Given the description of an element on the screen output the (x, y) to click on. 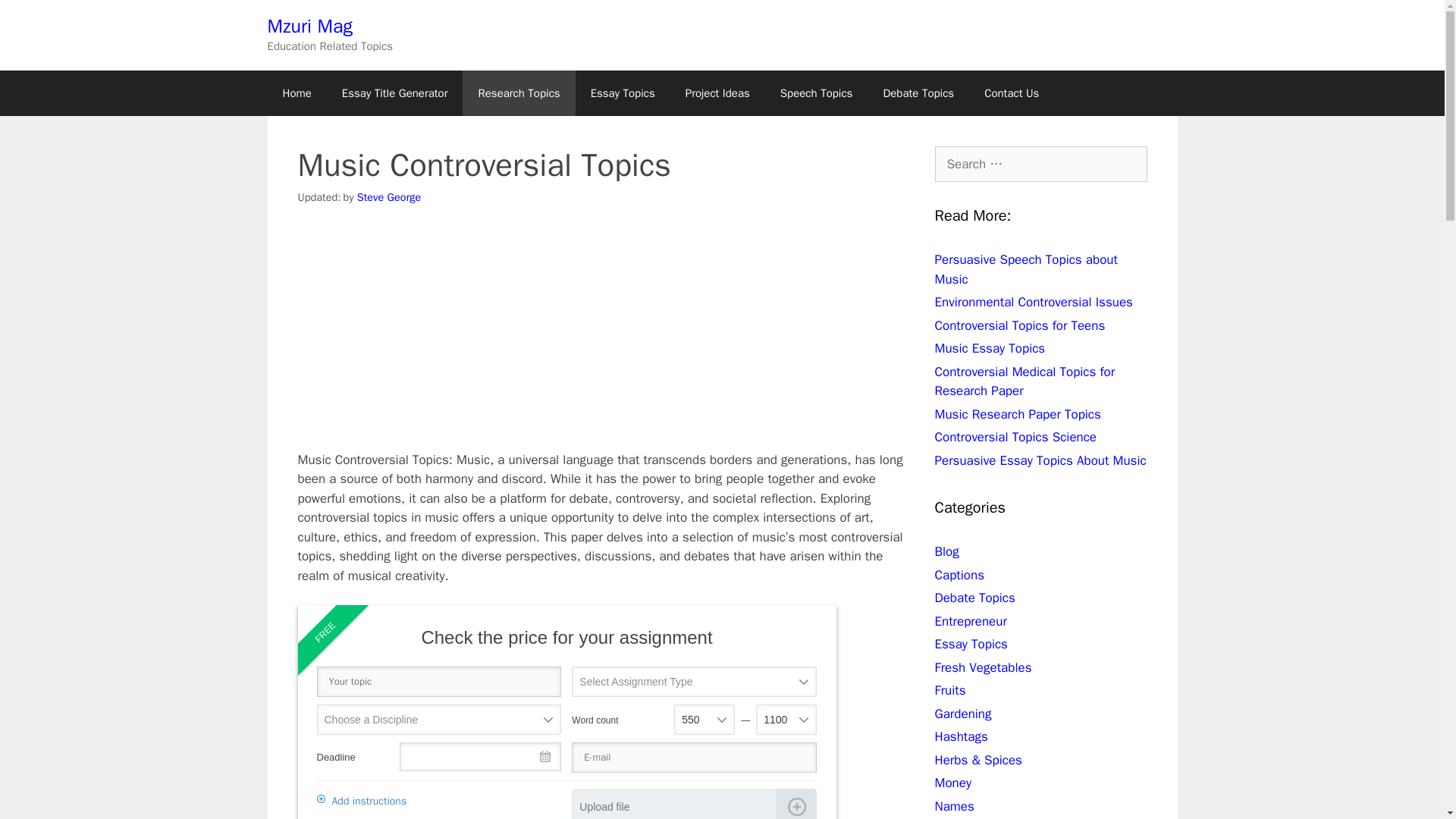
Environmental Controversial Issues (1033, 302)
Home (296, 92)
Contact Us (1011, 92)
Add instructions (369, 801)
Speech Topics (816, 92)
Persuasive Speech Topics about Music (1025, 269)
Blog (946, 551)
Debate Topics (974, 597)
Research Topics (519, 92)
Essay Title Generator (394, 92)
